Given the description of an element on the screen output the (x, y) to click on. 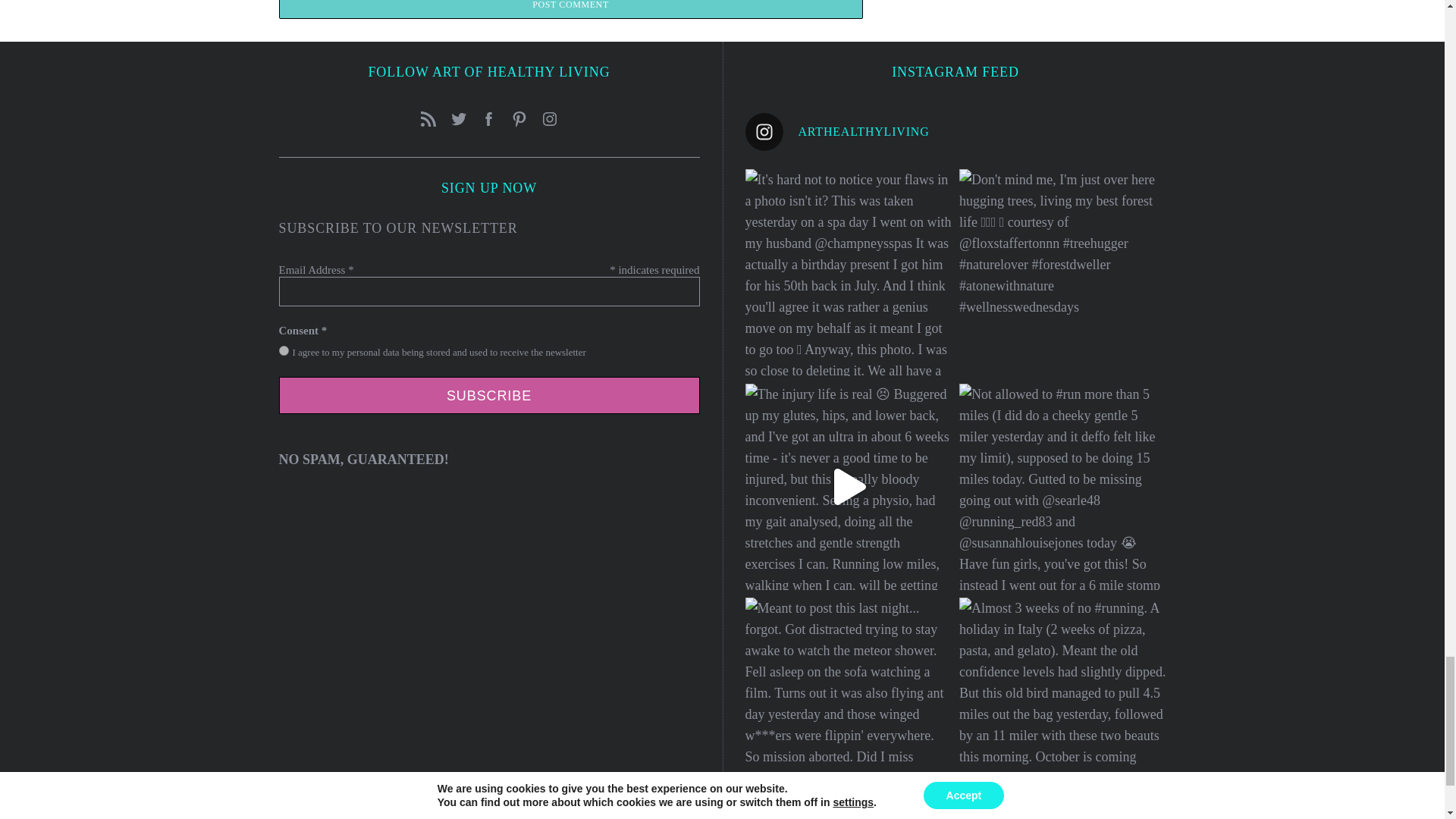
Post Comment (571, 9)
Subscribe (489, 395)
